Given the description of an element on the screen output the (x, y) to click on. 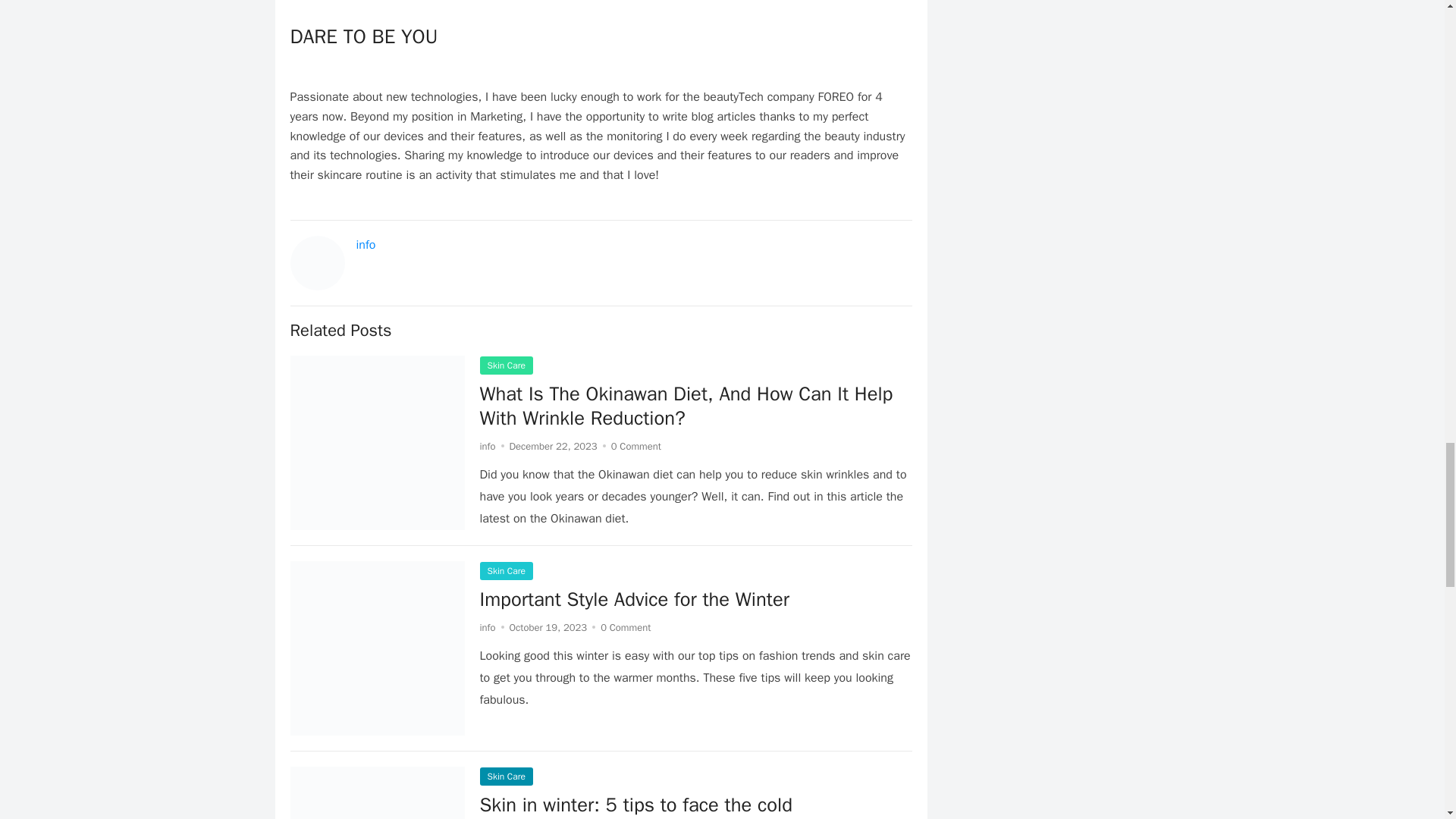
Skin Care (505, 570)
Important Style Advice for the Winter (634, 599)
0 Comment (636, 445)
info (365, 244)
info (487, 445)
Skin Care (505, 365)
info (487, 626)
Posts by info (487, 445)
0 Comment (624, 626)
